Given the description of an element on the screen output the (x, y) to click on. 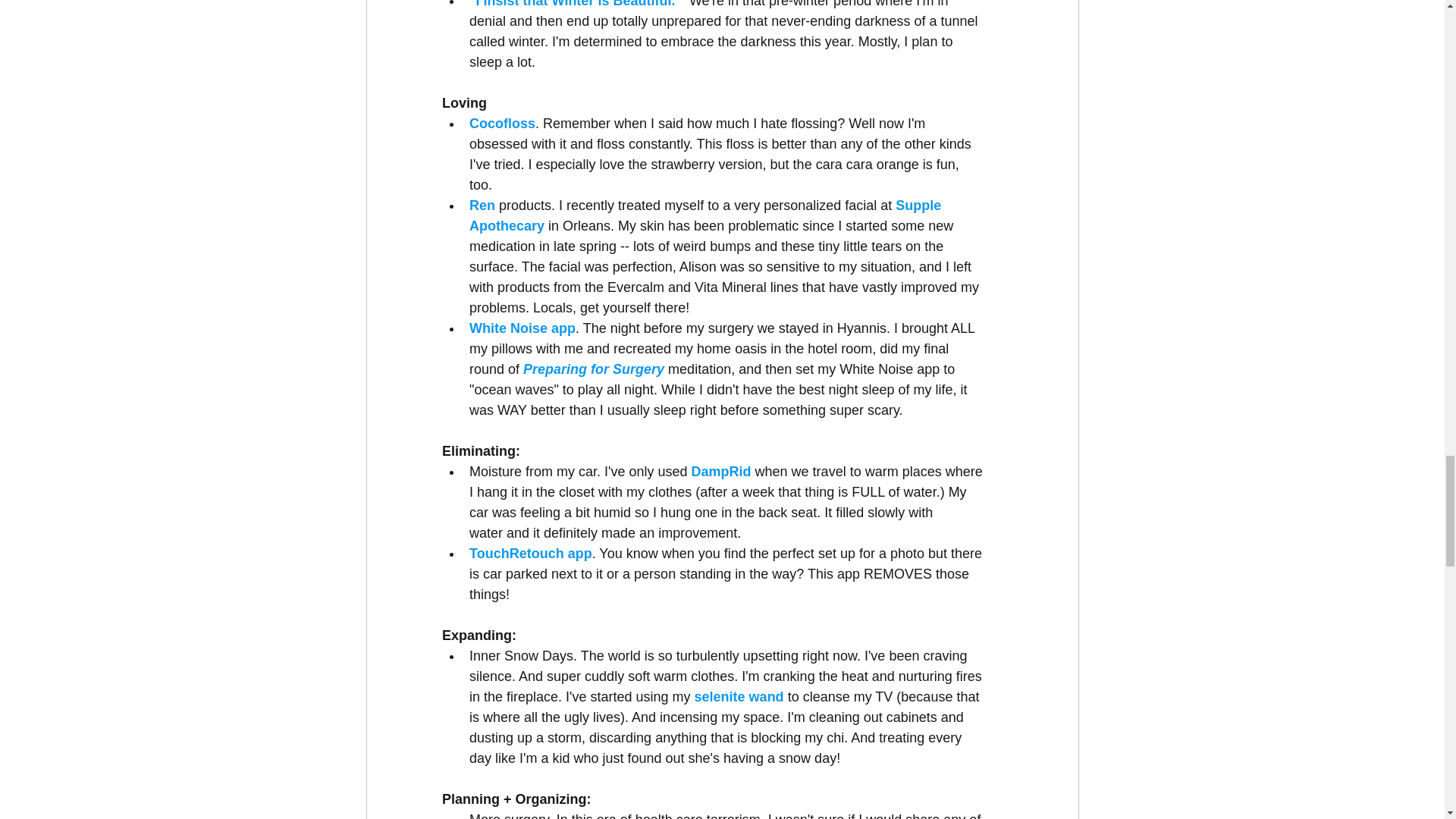
Ren (481, 205)
Cocofloss (501, 123)
"I Insist that Winter is Beautiful." (574, 4)
